Given the description of an element on the screen output the (x, y) to click on. 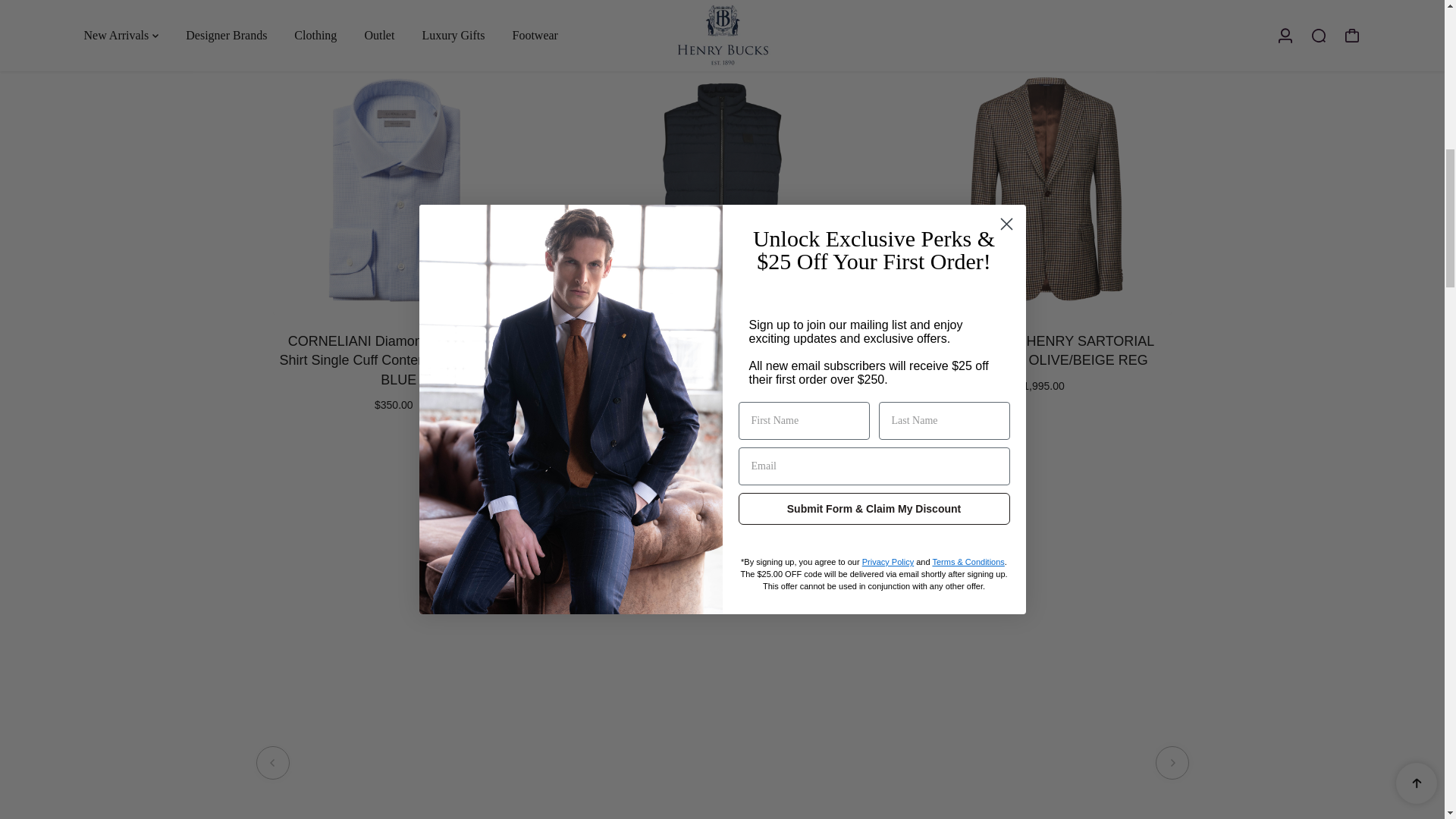
BUGATTI Zip Up Quilted Vest NAVY REG (721, 350)
